Given the description of an element on the screen output the (x, y) to click on. 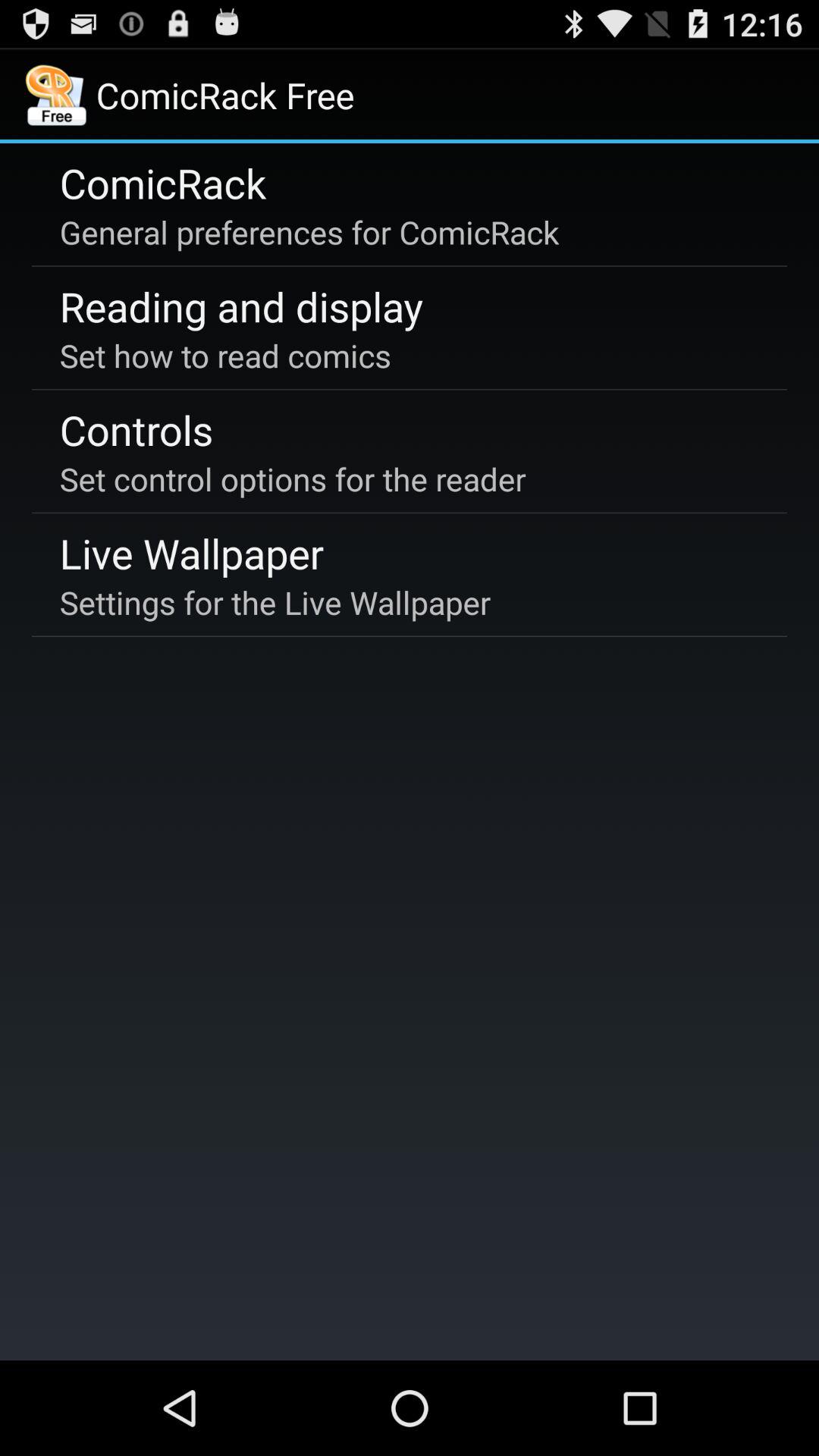
turn off set control options icon (292, 478)
